Given the description of an element on the screen output the (x, y) to click on. 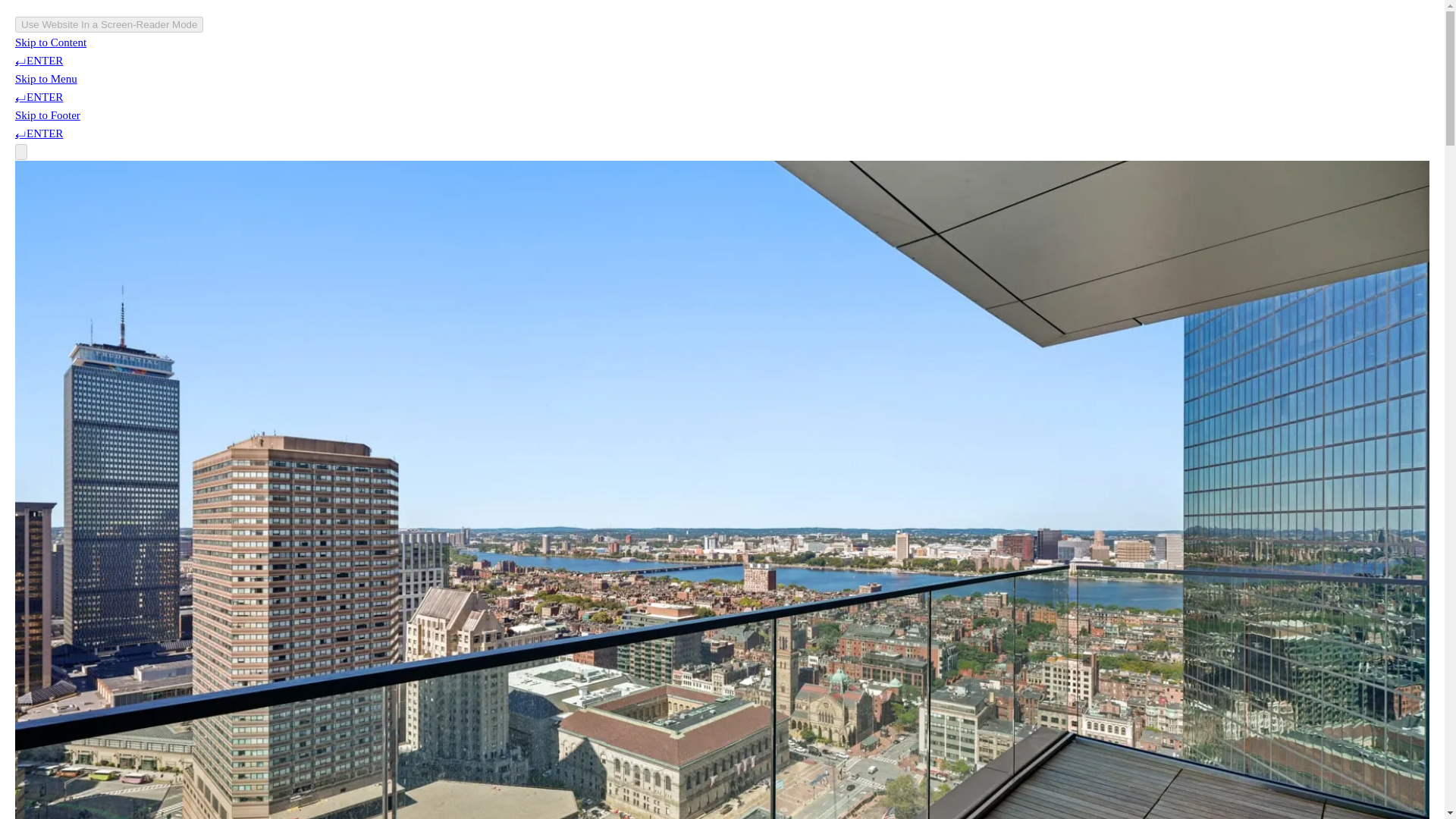
MENU (1387, 58)
